Given the description of an element on the screen output the (x, y) to click on. 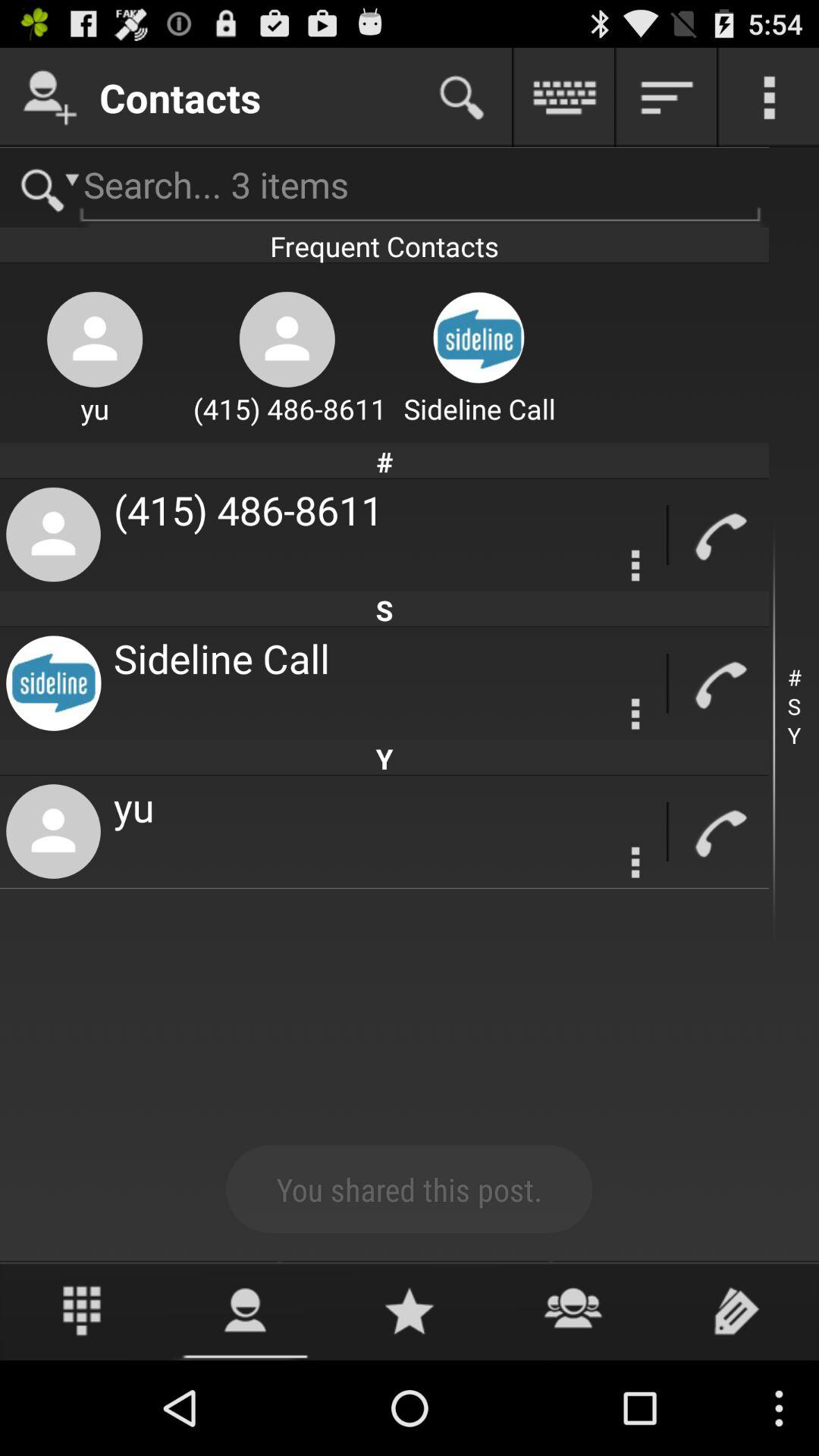
see details (635, 714)
